Given the description of an element on the screen output the (x, y) to click on. 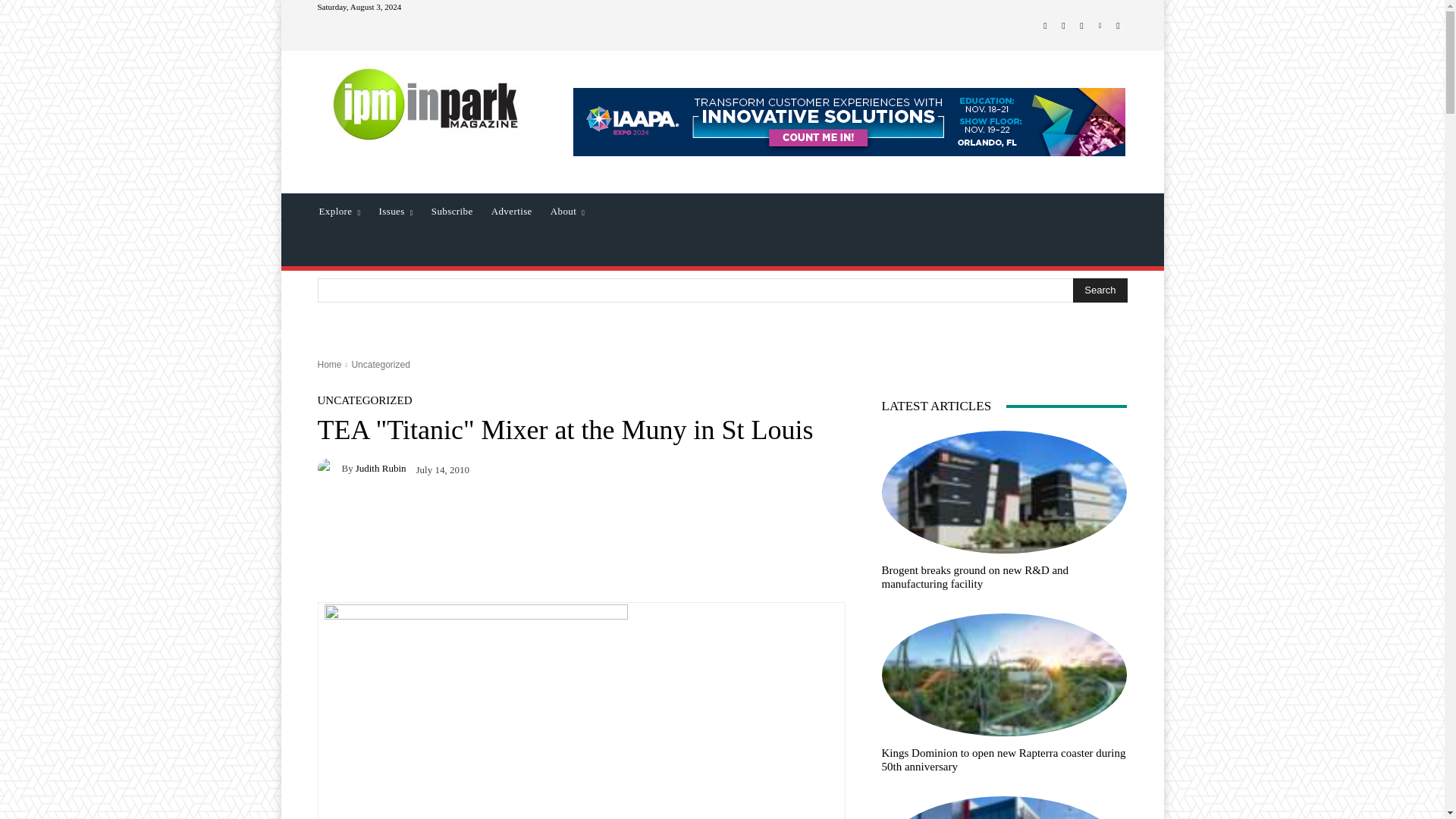
Instagram (1062, 25)
Youtube (1117, 25)
Vimeo (1099, 25)
Twitter (1080, 25)
Facebook (1044, 25)
